Given the description of an element on the screen output the (x, y) to click on. 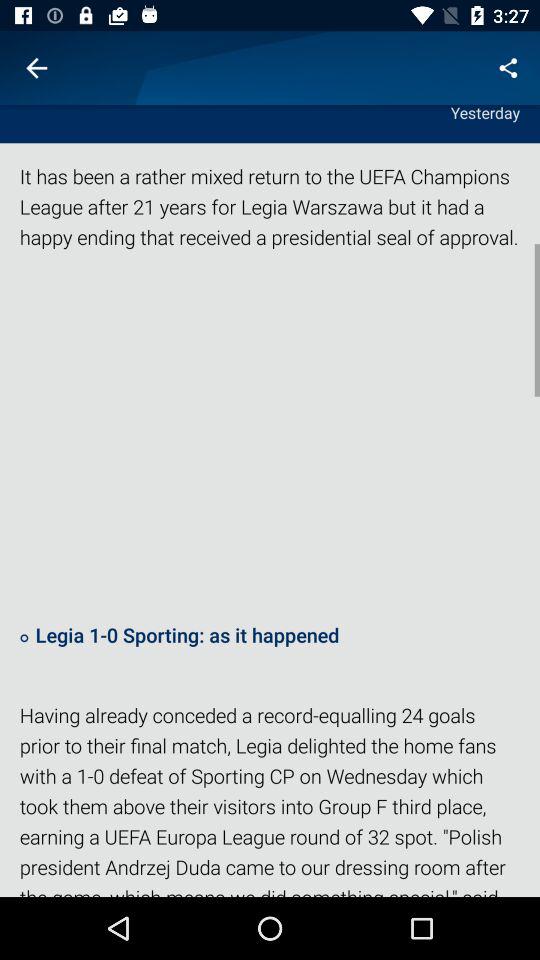
open item at the top left corner (36, 68)
